Given the description of an element on the screen output the (x, y) to click on. 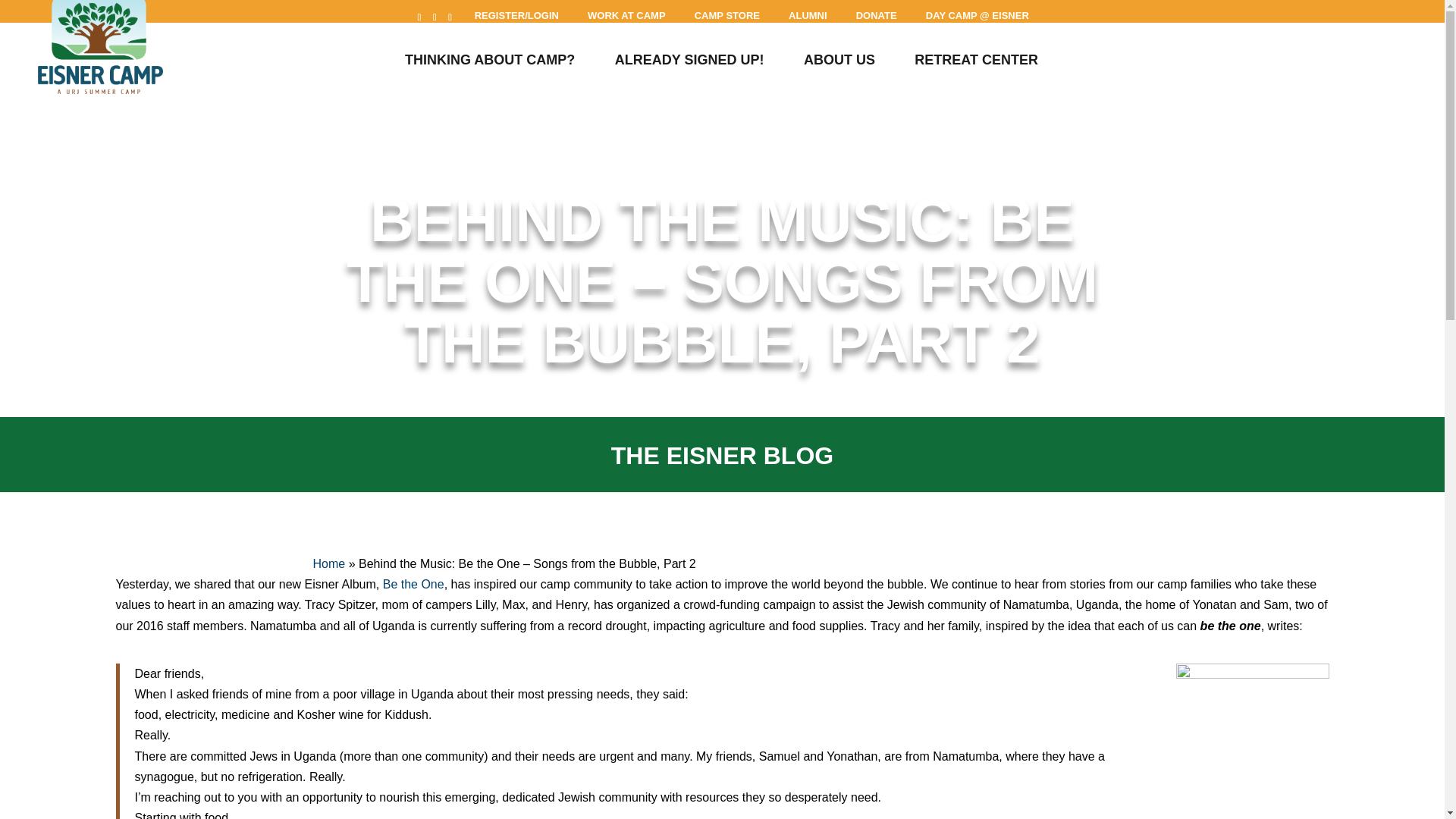
ALUMNI (807, 16)
RETREAT CENTER (976, 65)
DONATE (876, 16)
Home (329, 563)
WORK AT CAMP (625, 16)
THINKING ABOUT CAMP? (489, 65)
CAMP STORE (727, 16)
ABOUT US (839, 65)
Be the One (413, 584)
ALREADY SIGNED UP! (689, 65)
